Given the description of an element on the screen output the (x, y) to click on. 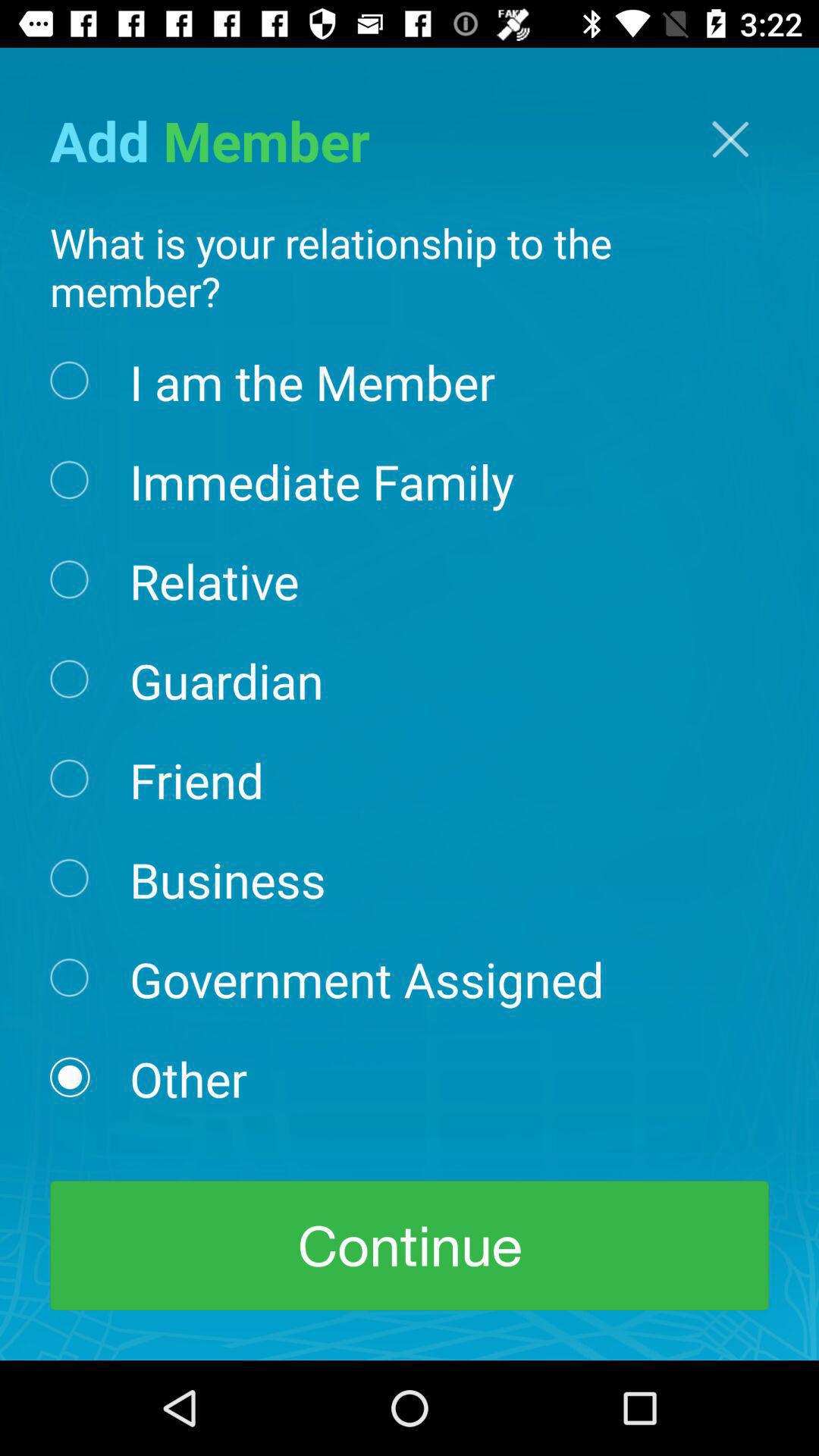
press icon above the continue icon (188, 1077)
